Given the description of an element on the screen output the (x, y) to click on. 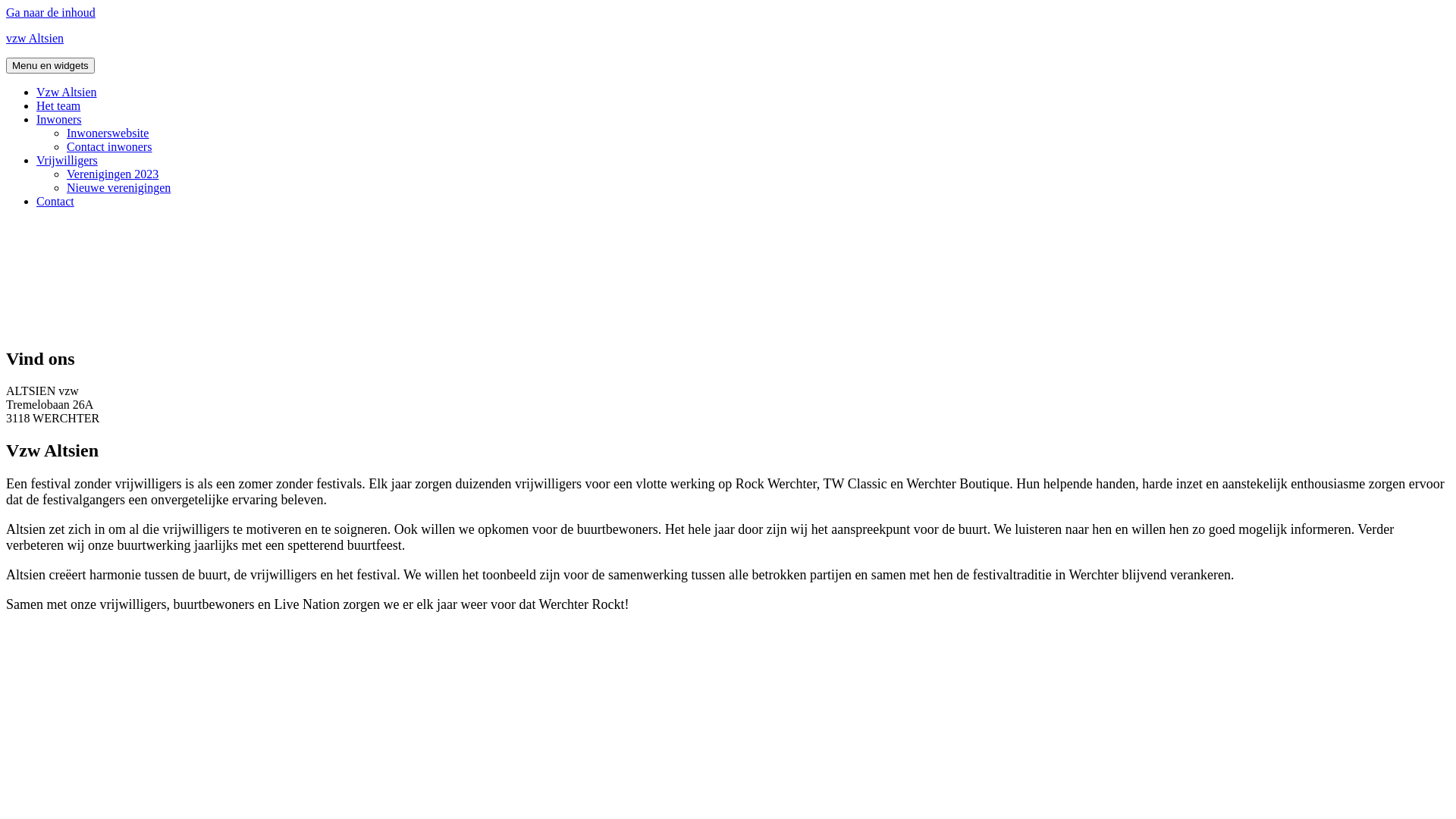
vzw Altsien Element type: text (34, 37)
Het team Element type: text (58, 105)
Vzw Altsien Element type: text (66, 91)
Inwonerswebsite Element type: text (107, 132)
Inwoners Element type: text (58, 118)
Verenigingen 2023 Element type: text (112, 173)
Menu en widgets Element type: text (50, 65)
Ga naar de inhoud Element type: text (50, 12)
Contact inwoners Element type: text (108, 146)
Nieuwe verenigingen Element type: text (118, 187)
Contact Element type: text (55, 200)
Vrijwilligers Element type: text (66, 159)
